Given the description of an element on the screen output the (x, y) to click on. 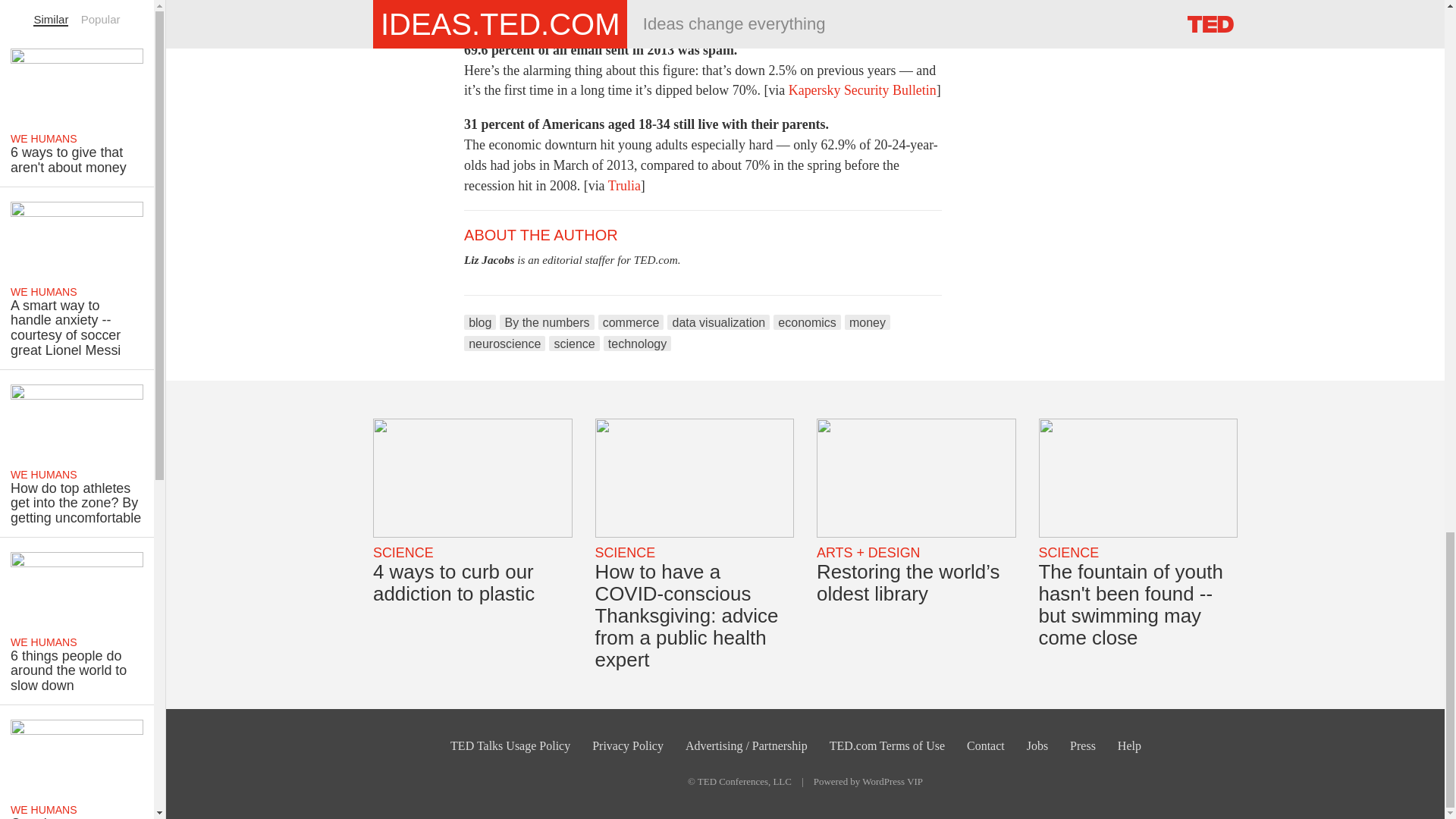
economics (807, 322)
money (866, 322)
Liz Jacobs (488, 259)
By the numbers (546, 322)
Science Daily (649, 15)
data visualization (718, 322)
technology (637, 343)
blog (480, 322)
Trulia (624, 185)
neuroscience (504, 343)
